Given the description of an element on the screen output the (x, y) to click on. 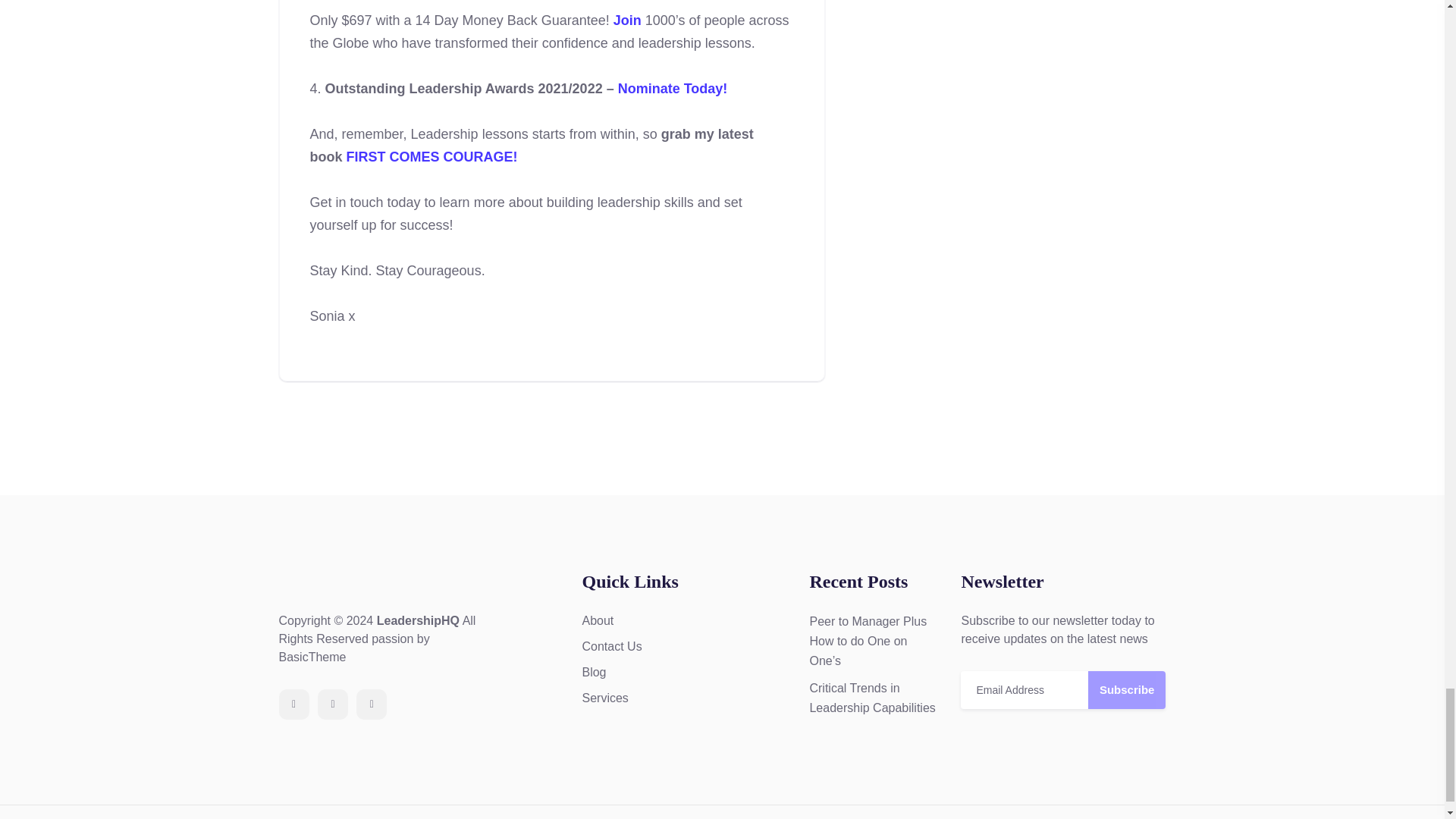
FIRST COMES COURAGE! (432, 156)
Join (627, 20)
Nominate Today! (672, 88)
